Given the description of an element on the screen output the (x, y) to click on. 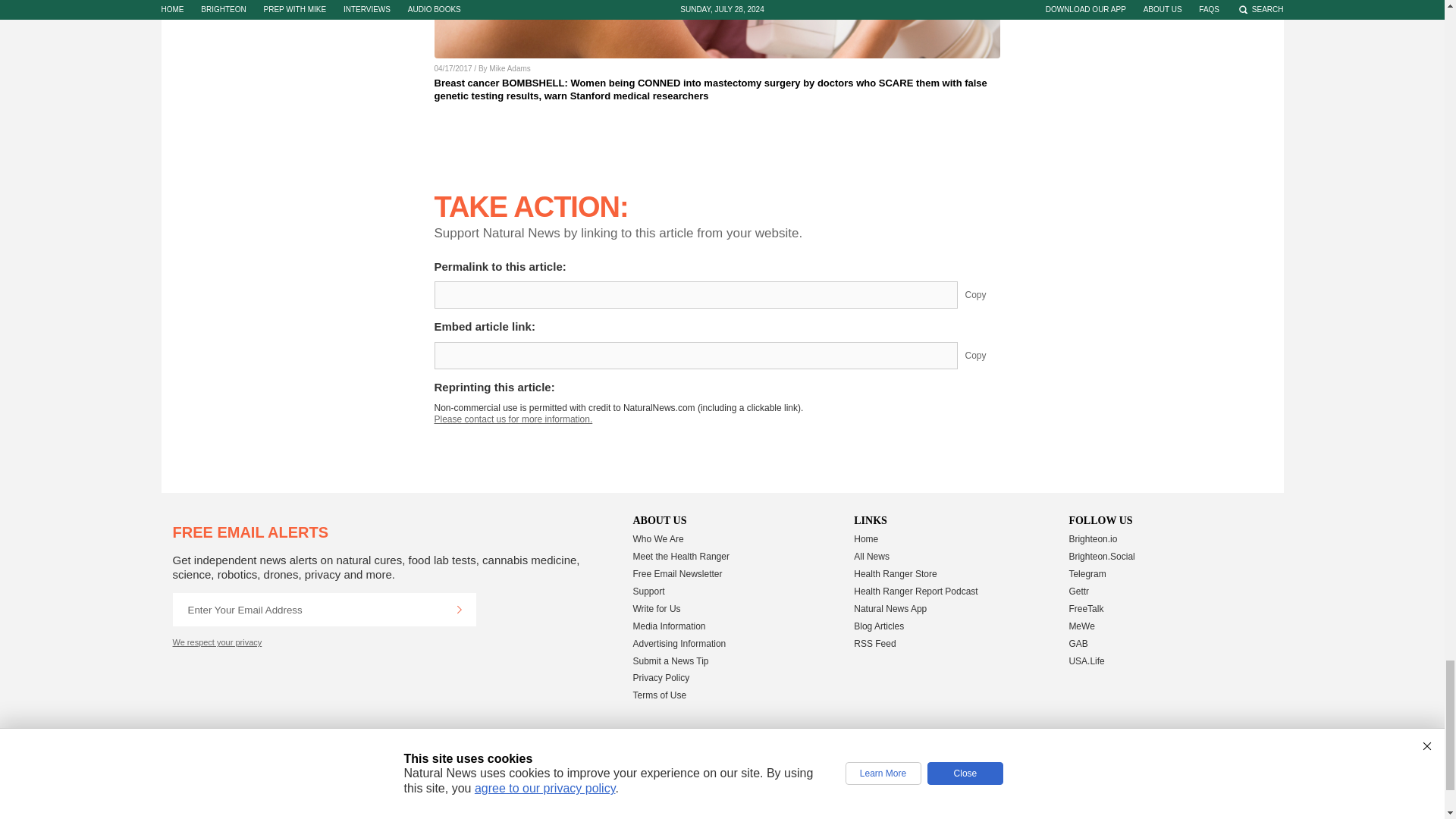
Copy Permalink (986, 294)
Continue (459, 609)
Copy Embed Link (986, 355)
eTrust Pro Certified (829, 762)
